Given the description of an element on the screen output the (x, y) to click on. 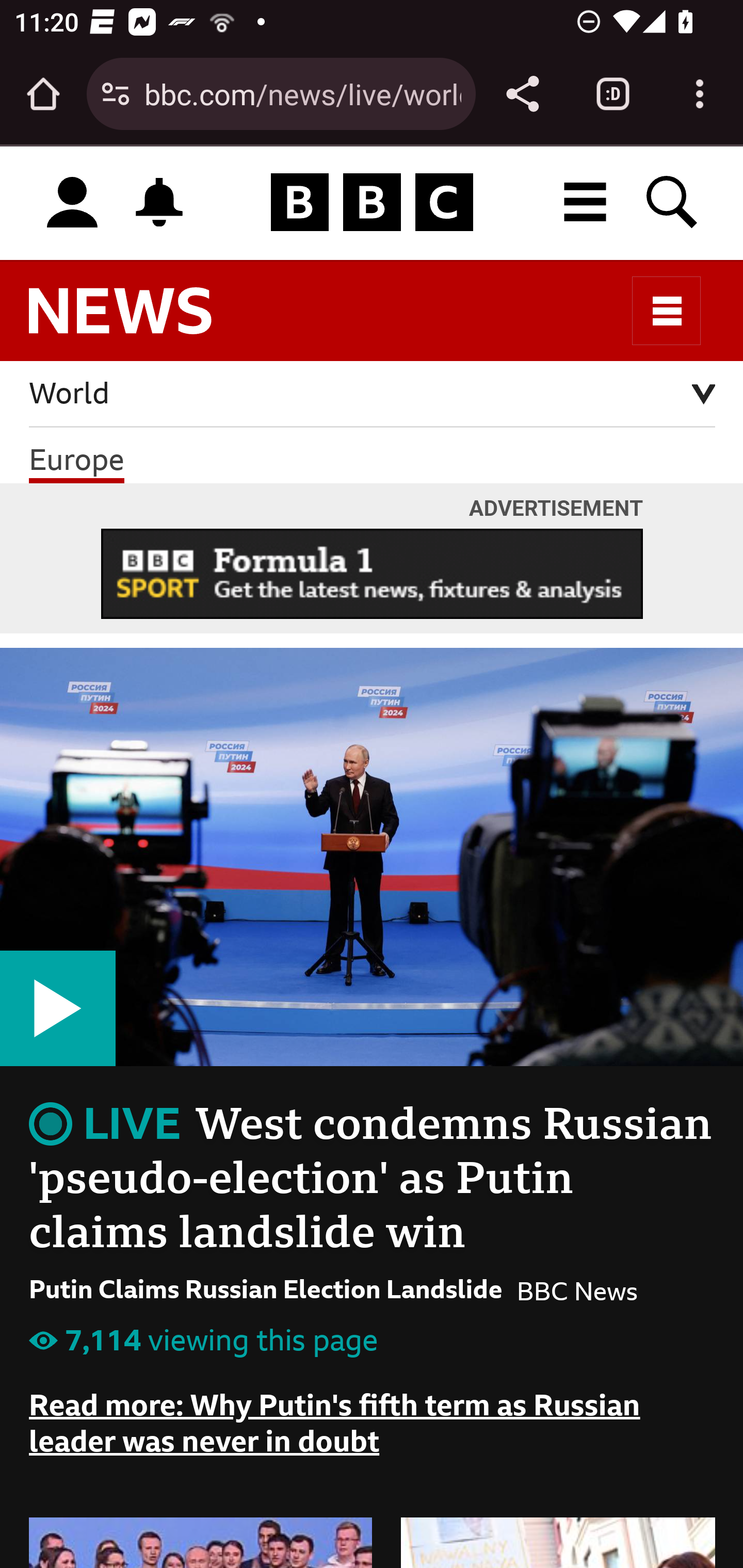
Open the home page (43, 93)
Connection is secure (115, 93)
Share (522, 93)
Switch or close tabs (612, 93)
Customize and control Google Chrome (699, 93)
bbc.com/news/live/world-europe-68536879 (302, 92)
Notifications (159, 202)
All BBC destinations menu (585, 202)
Search BBC (672, 202)
Sign in (71, 203)
Homepage (371, 203)
Sections (667, 310)
BBC News (136, 319)
World (372, 394)
